Given the description of an element on the screen output the (x, y) to click on. 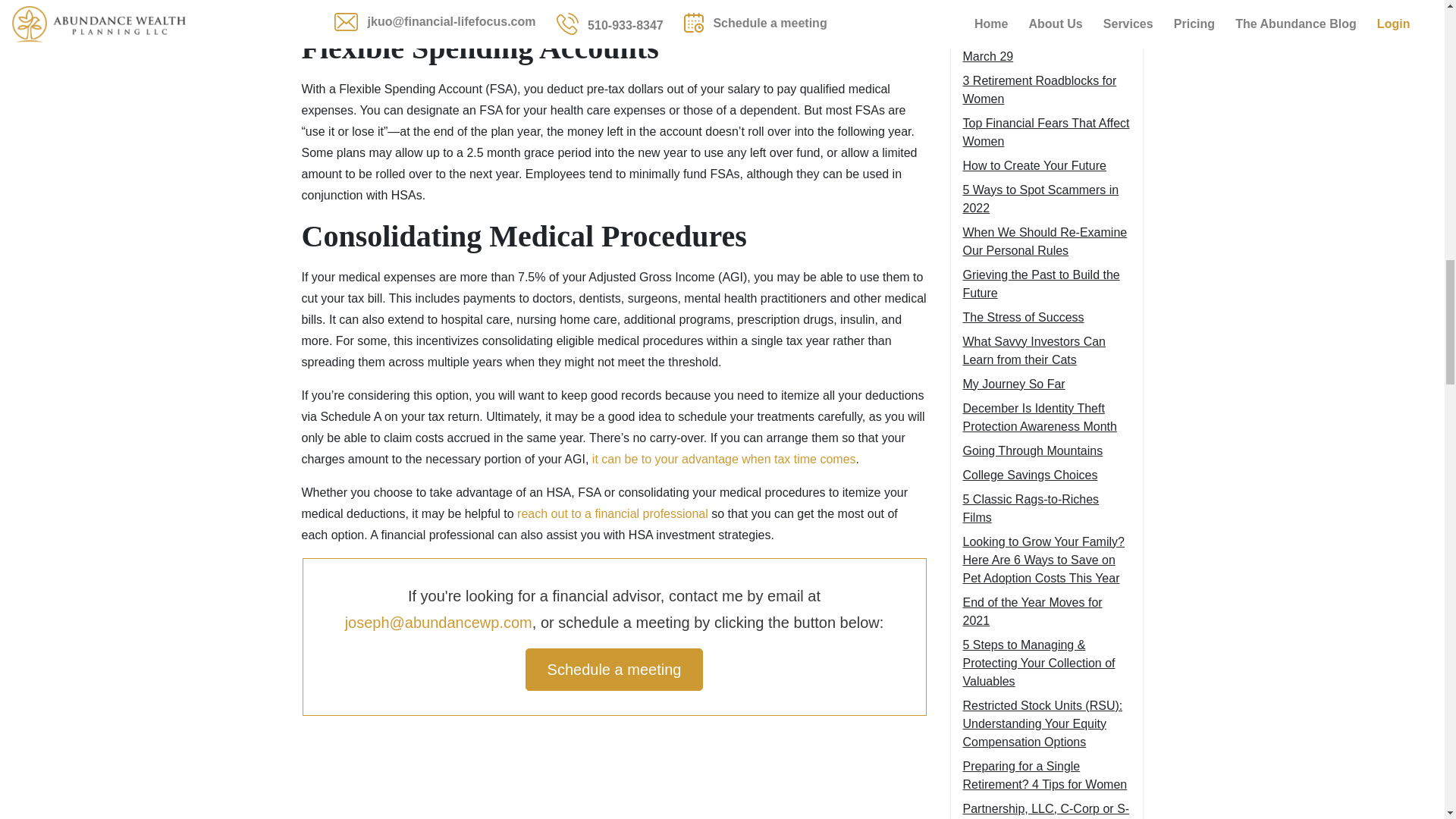
it can be to your advantage when tax time comes (724, 459)
reach out to a financial professional (611, 513)
Schedule a meeting (614, 669)
